Given the description of an element on the screen output the (x, y) to click on. 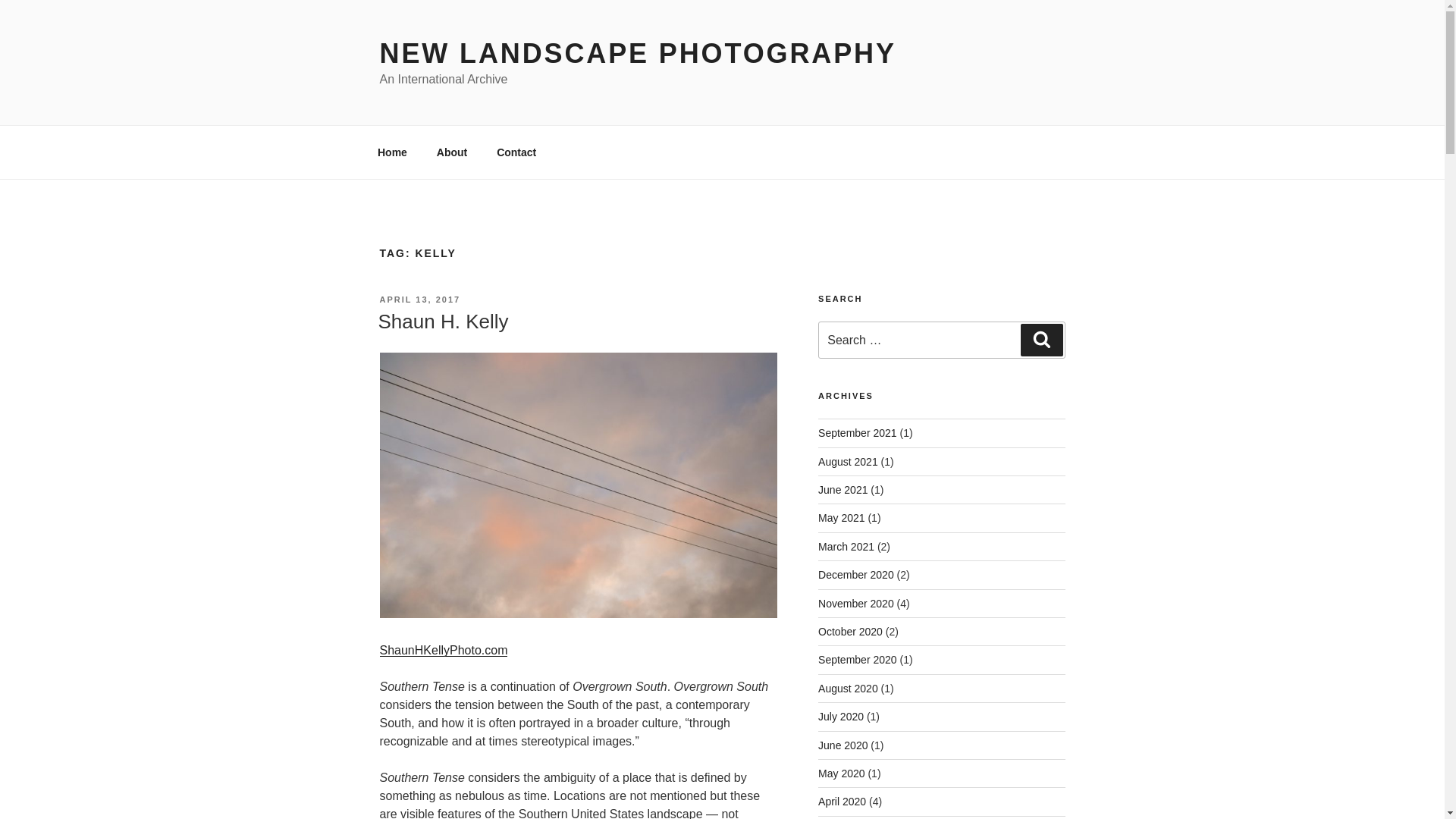
Search (1041, 339)
December 2020 (855, 574)
June 2020 (842, 745)
April 2020 (842, 801)
ShaunHKellyPhoto.com (442, 649)
July 2020 (840, 716)
Shaun H. Kelly (442, 321)
October 2020 (850, 631)
Contact (516, 151)
May 2020 (841, 773)
